Given the description of an element on the screen output the (x, y) to click on. 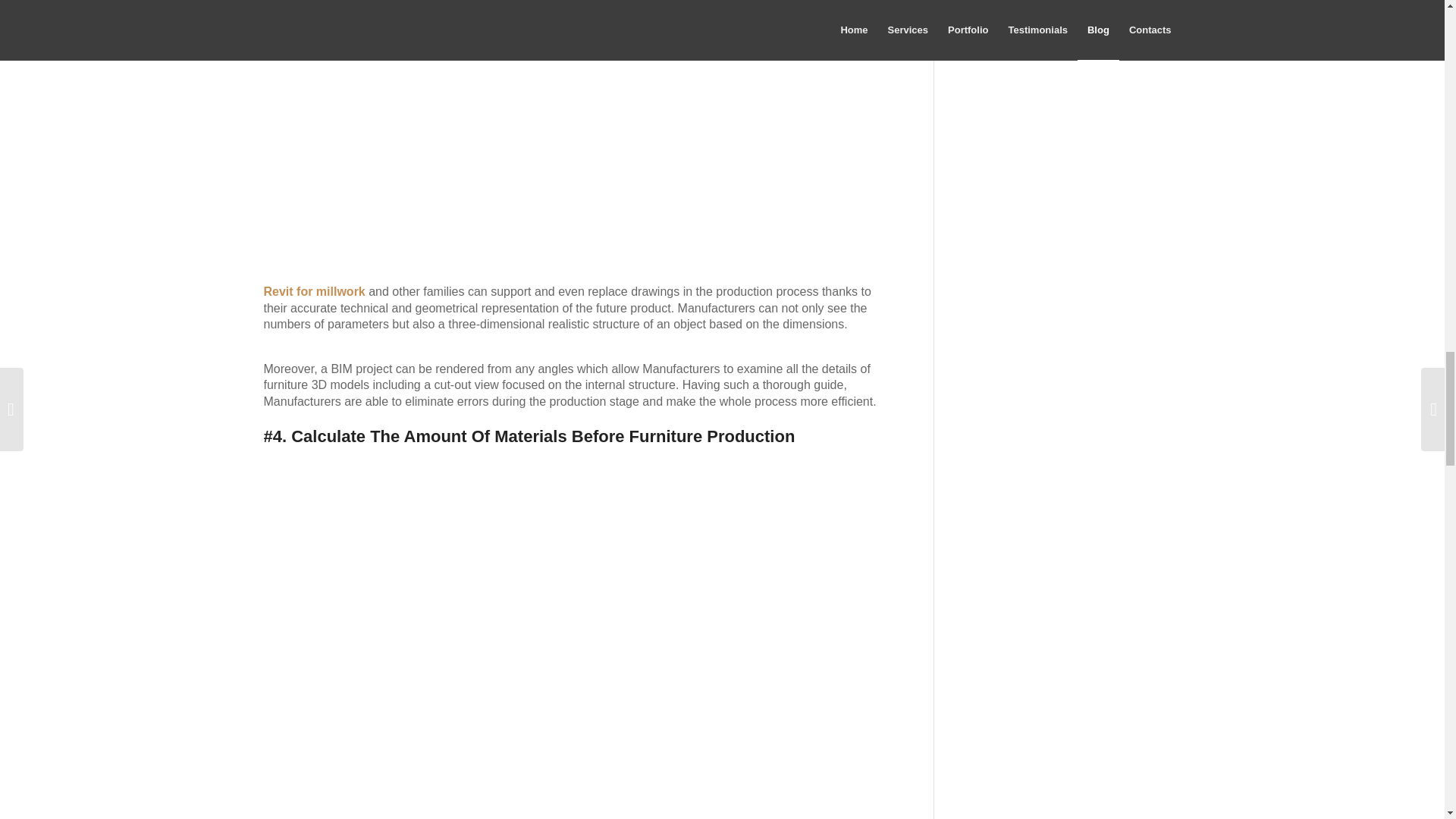
Revit for millwork (314, 291)
